Given the description of an element on the screen output the (x, y) to click on. 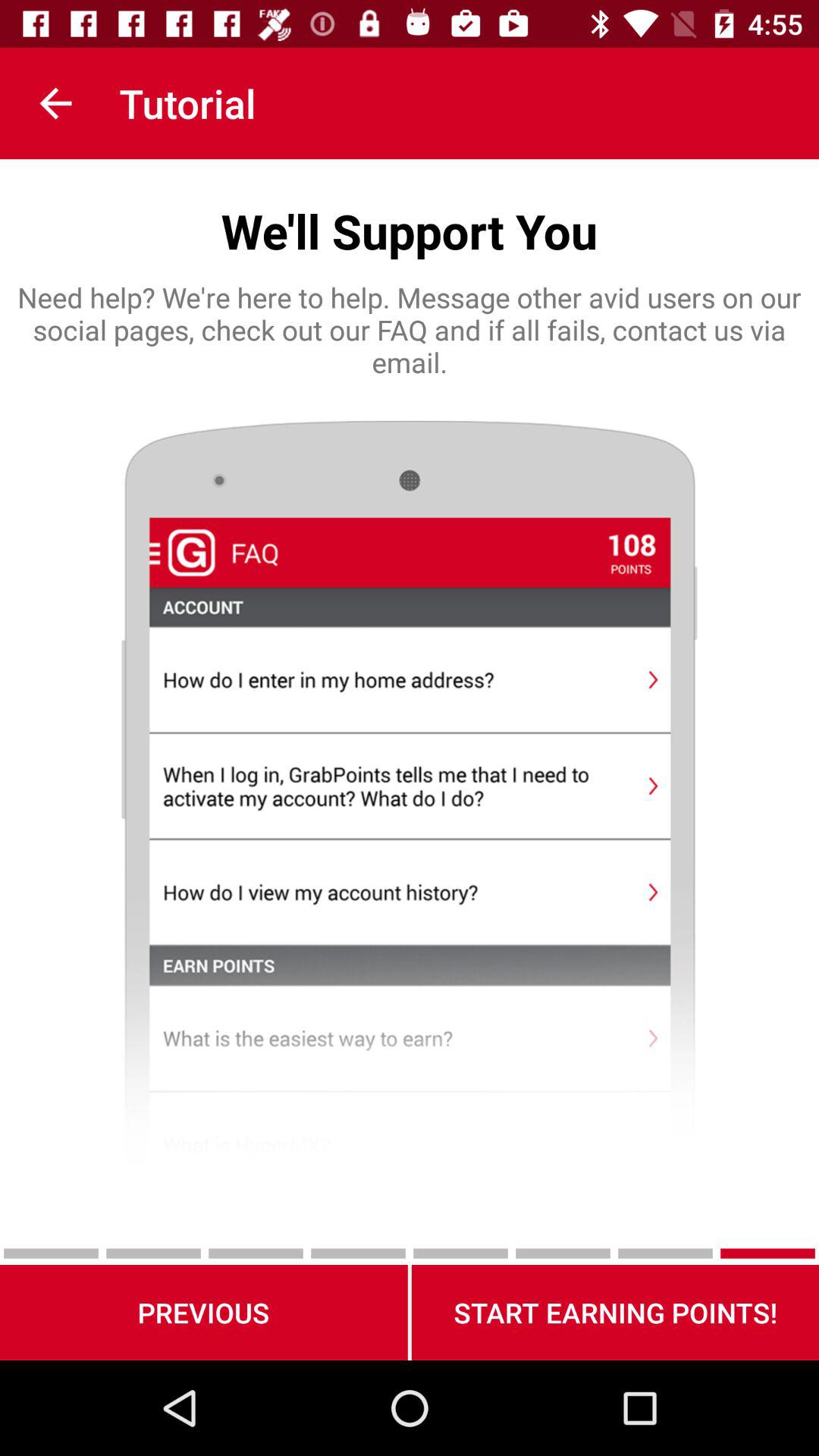
jump until start earning points! icon (615, 1312)
